Given the description of an element on the screen output the (x, y) to click on. 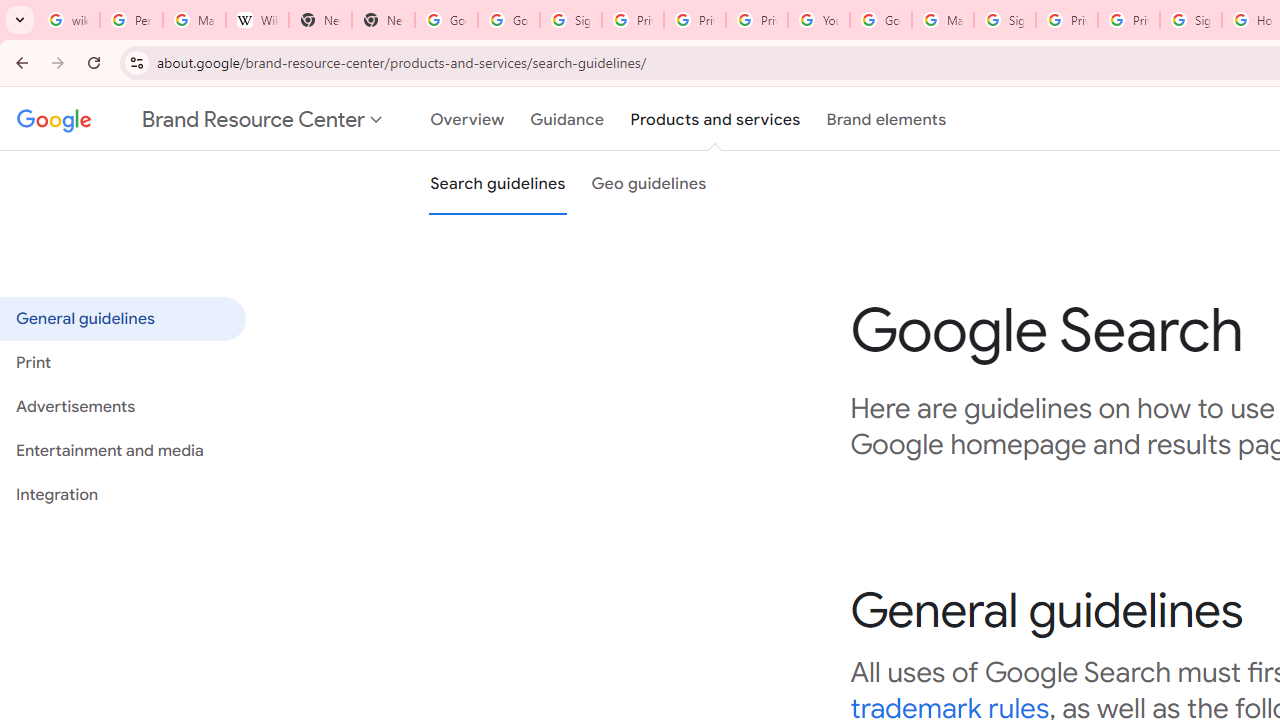
Google (50, 119)
Guidance (567, 119)
Wikipedia:Edit requests - Wikipedia (257, 20)
General guidelines (122, 318)
Entertainment and media (122, 451)
Brand elements (886, 119)
Google Drive: Sign-in (508, 20)
Manage your Location History - Google Search Help (194, 20)
Geo guidelines (648, 183)
